Given the description of an element on the screen output the (x, y) to click on. 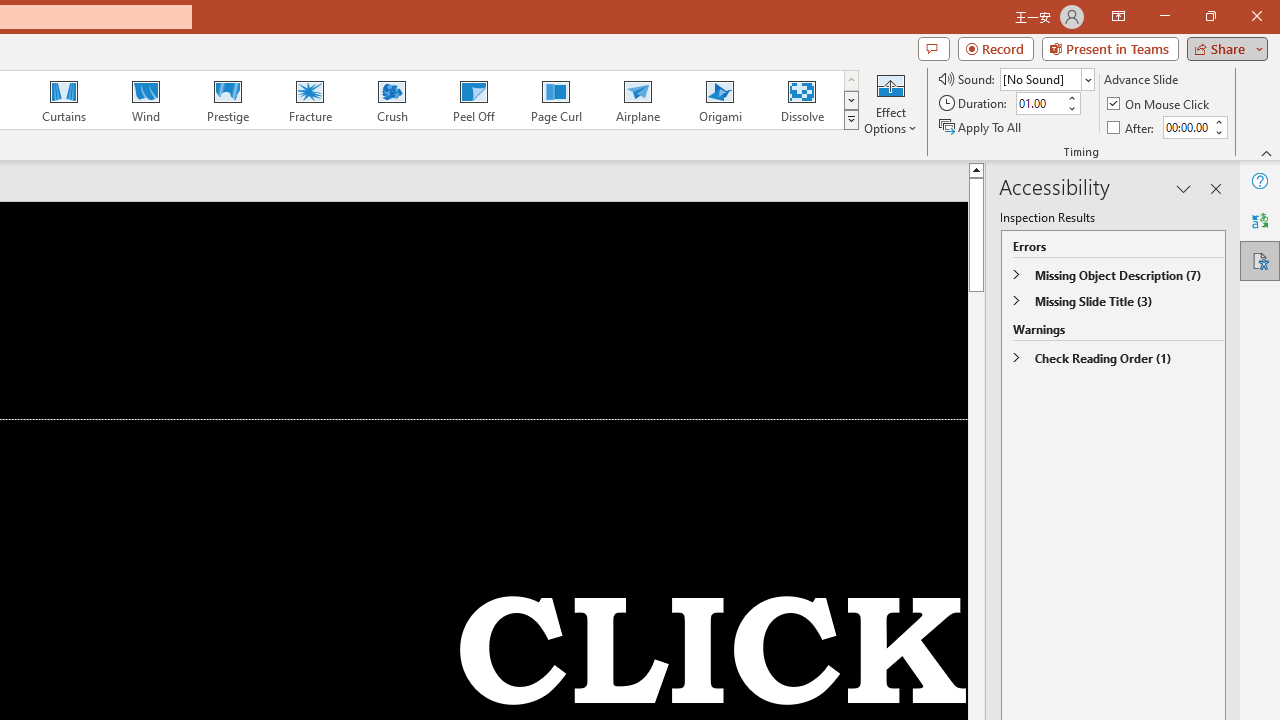
Airplane (637, 100)
